Given the description of an element on the screen output the (x, y) to click on. 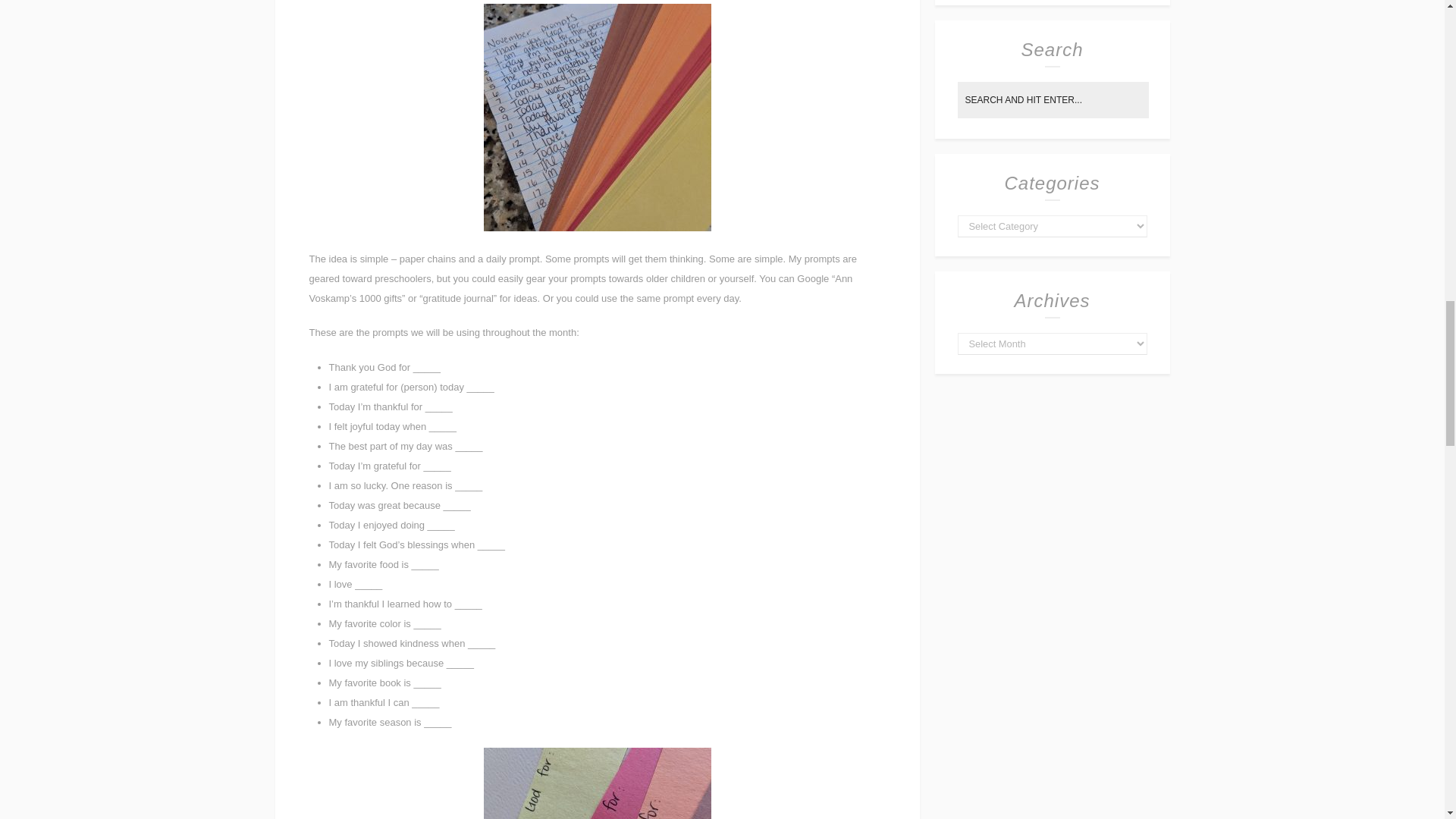
Search and hit enter... (1052, 99)
